Given the description of an element on the screen output the (x, y) to click on. 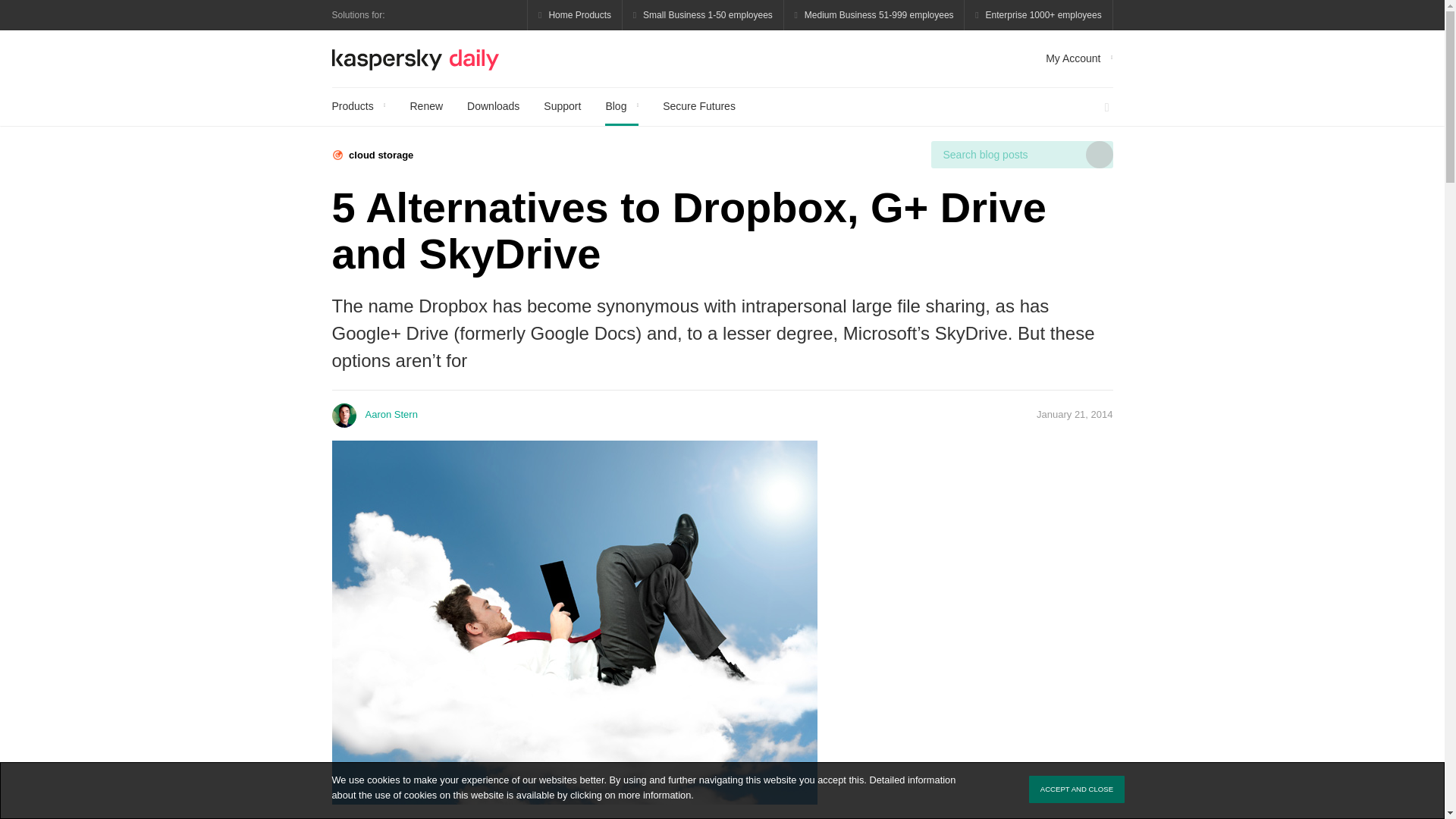
Renew (425, 106)
Kaspersky official blog (415, 58)
Products (358, 106)
Downloads (493, 106)
Support (561, 106)
My Account (1078, 58)
Secure Futures (698, 106)
font-icons icon-small-business (703, 15)
Small Business 1-50 employees (703, 15)
Home Products (575, 15)
Blog (622, 106)
Medium Business 51-999 employees (874, 15)
Kaspersky official blog (415, 58)
